Given the description of an element on the screen output the (x, y) to click on. 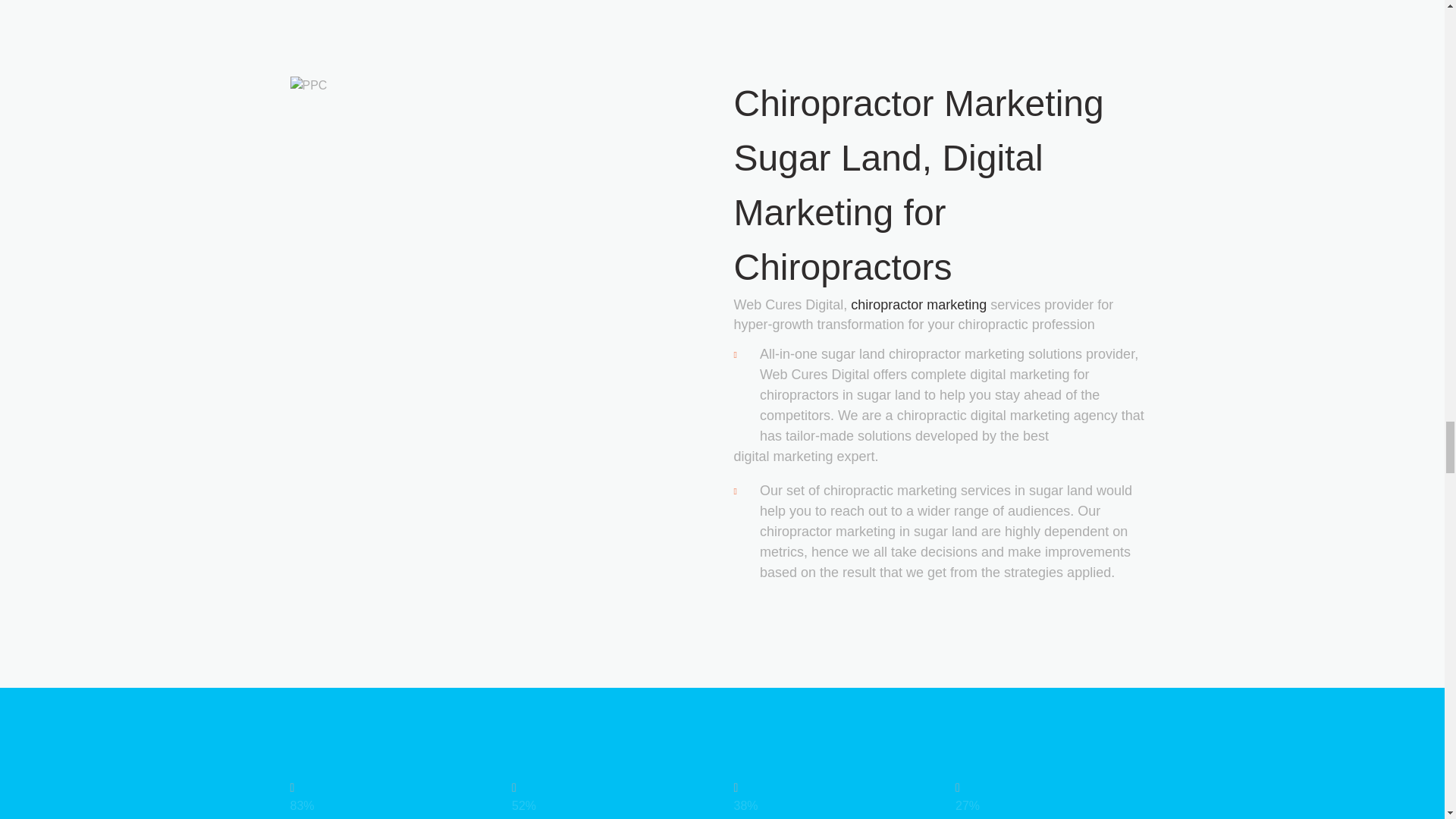
chiropractor marketing (918, 304)
digital marketing expert. (943, 456)
